Given the description of an element on the screen output the (x, y) to click on. 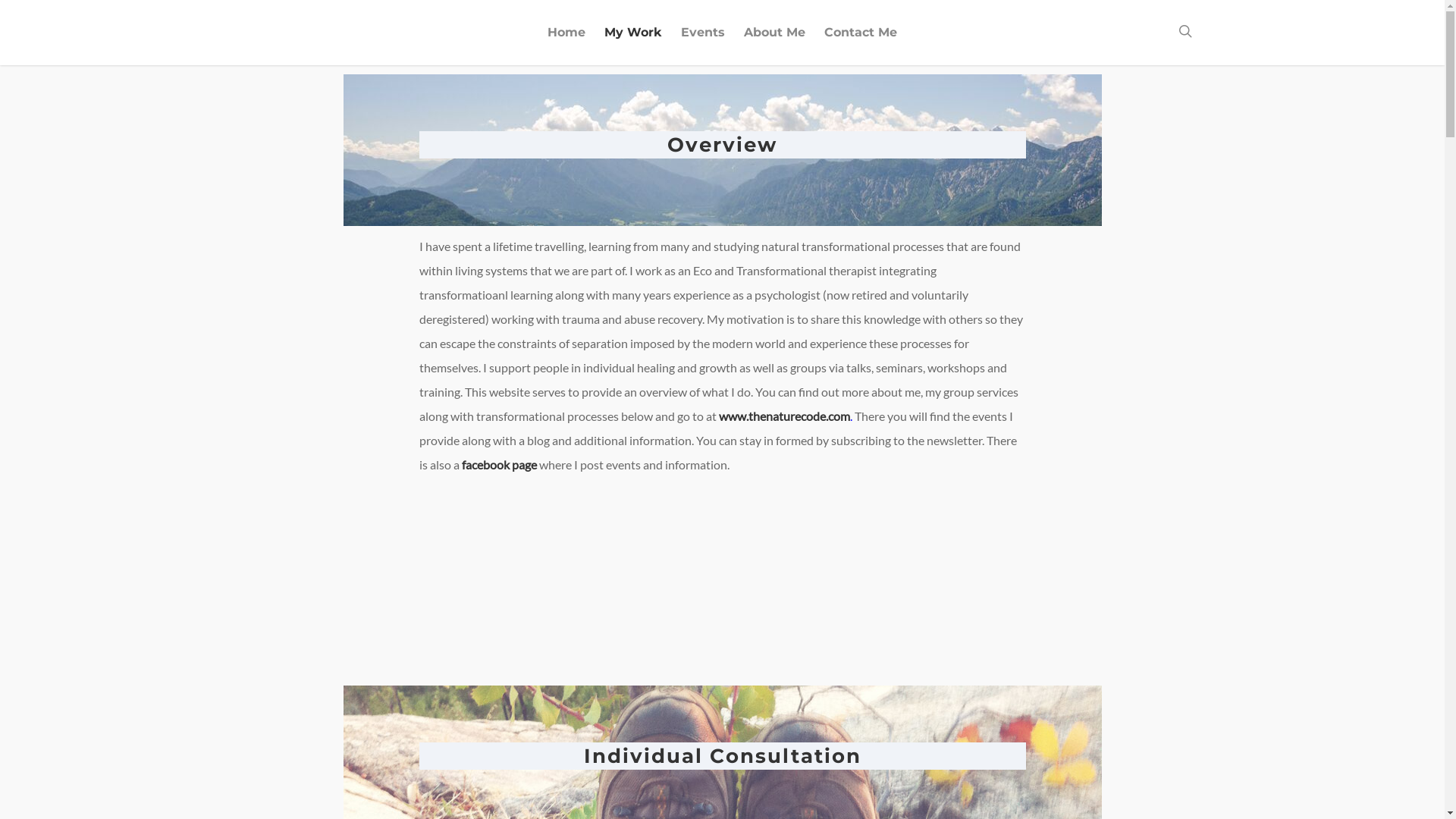
Overview Element type: text (722, 144)
About Me Element type: text (774, 43)
Individual Consultation Element type: text (722, 755)
My Work Element type: text (632, 43)
Contact Me Element type: text (860, 43)
www.thenaturecode.com Element type: text (784, 415)
Home Element type: text (566, 43)
facebook page Element type: text (498, 464)
Events Element type: text (702, 43)
